Given the description of an element on the screen output the (x, y) to click on. 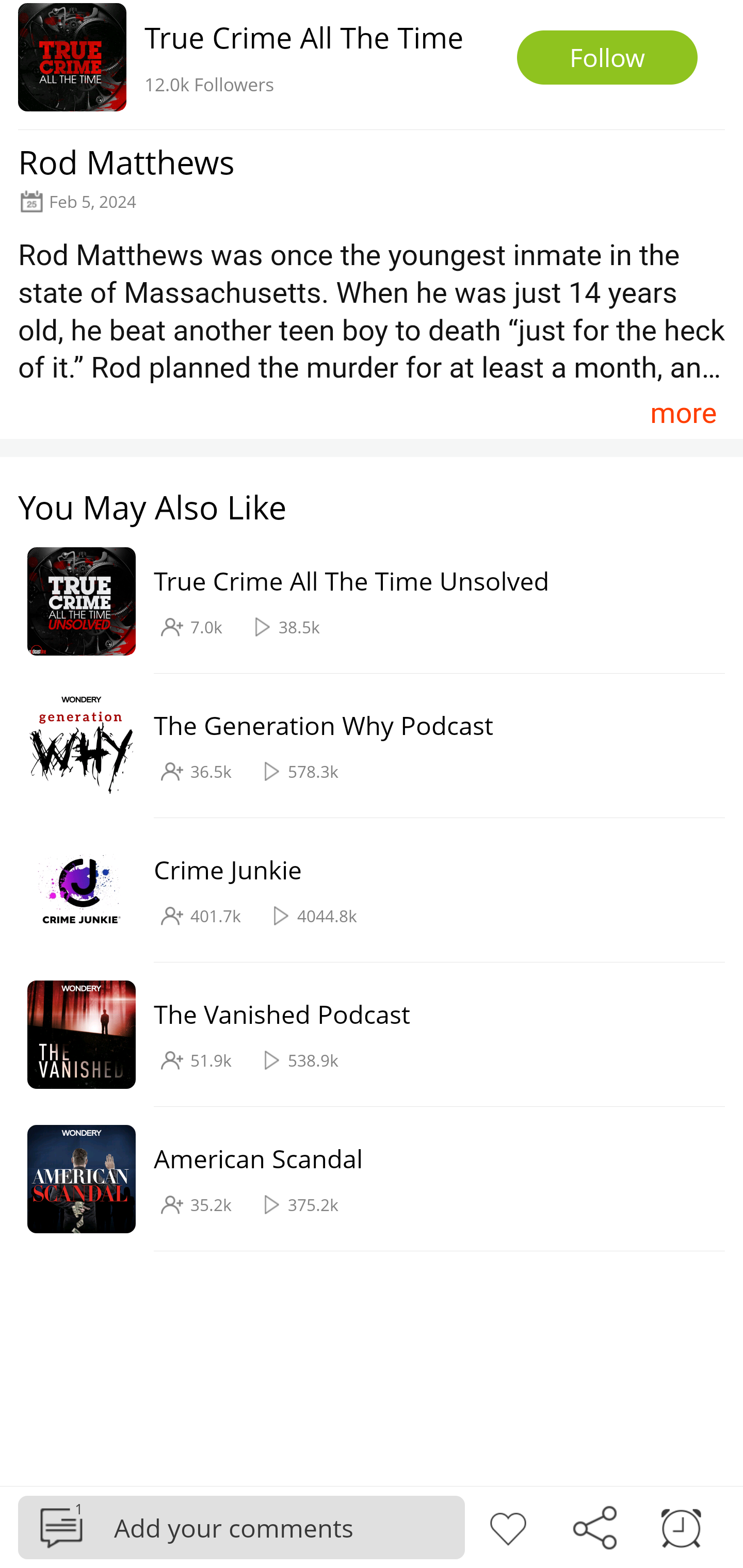
True Crime All The Time 12.0k Followers Follow (371, 65)
Follow (607, 56)
more (682, 412)
True Crime All The Time Unsolved 7.0k 38.5k (362, 601)
The Generation Why Podcast 36.5k 578.3k (362, 746)
Crime Junkie 401.7k 4044.8k (362, 890)
The Vanished Podcast 51.9k 538.9k (362, 1034)
American Scandal 35.2k 375.2k (362, 1179)
Like (508, 1526)
Share (594, 1526)
Sleep timer (681, 1526)
Podbean 1 Add your comments (241, 1526)
